Given the description of an element on the screen output the (x, y) to click on. 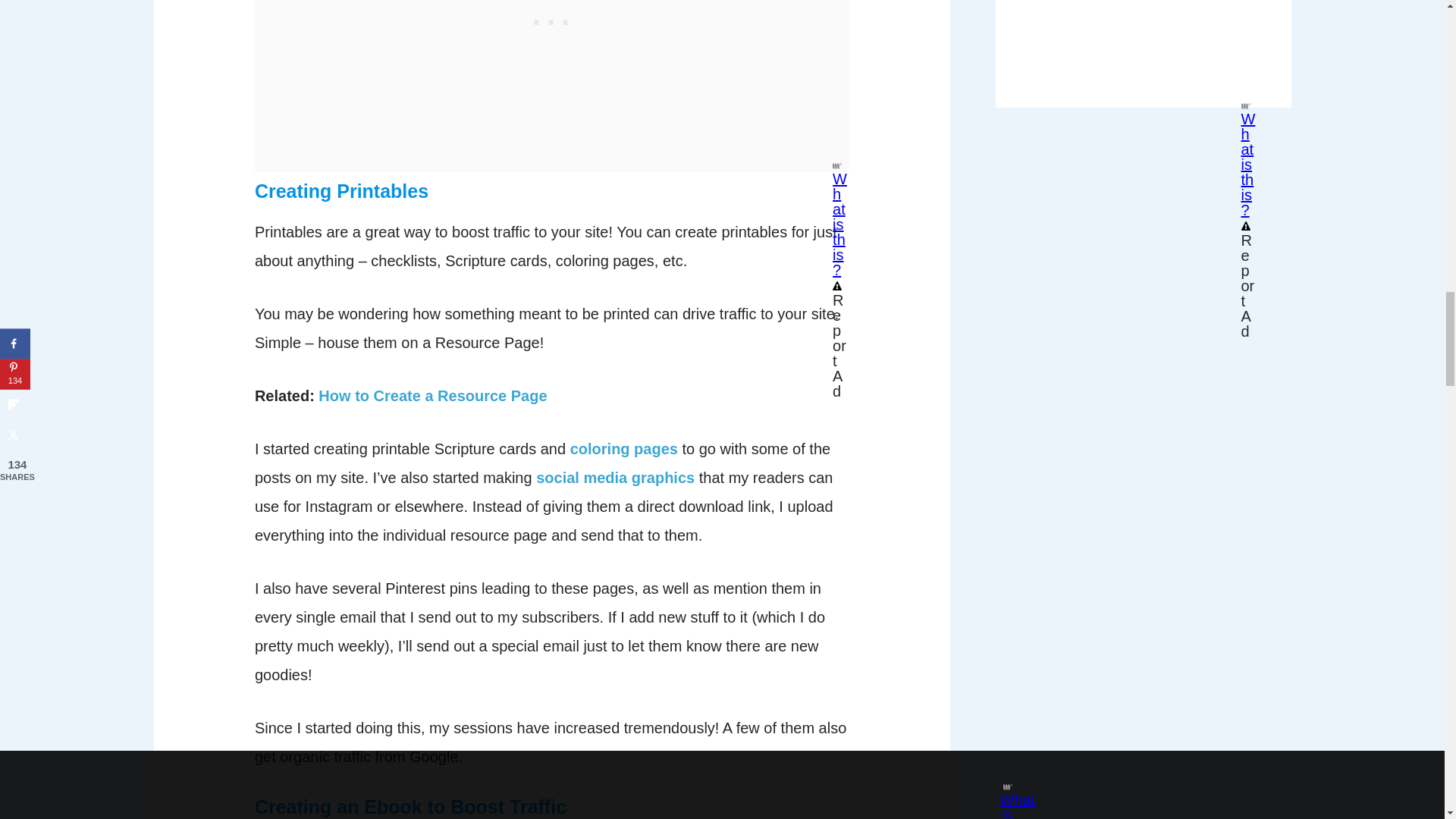
3rd party ad content (1143, 48)
